Given the description of an element on the screen output the (x, y) to click on. 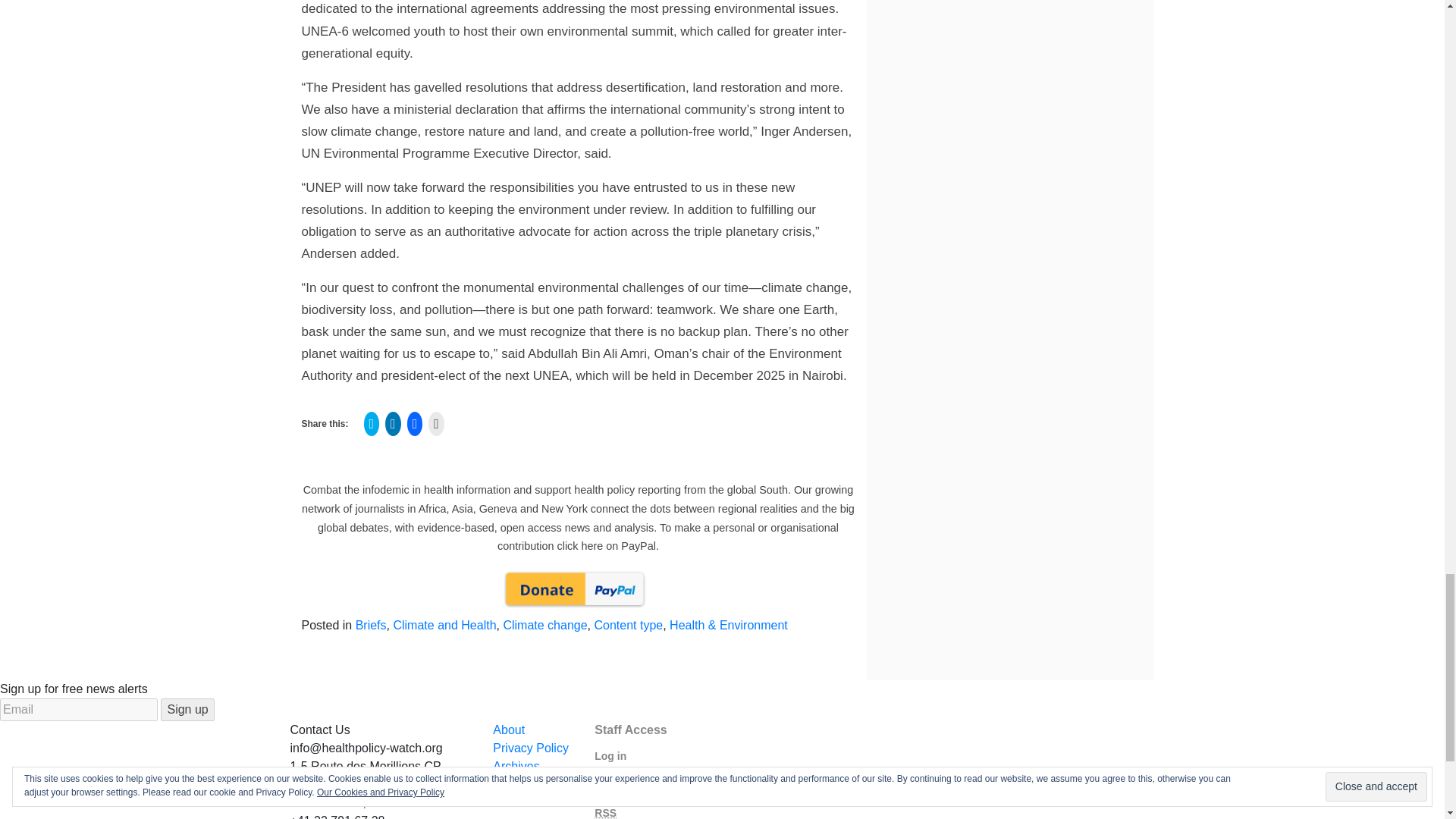
Climate and Health (444, 625)
Briefs (371, 625)
Content type (628, 625)
Climate change (544, 625)
Sign up (187, 709)
